Given the description of an element on the screen output the (x, y) to click on. 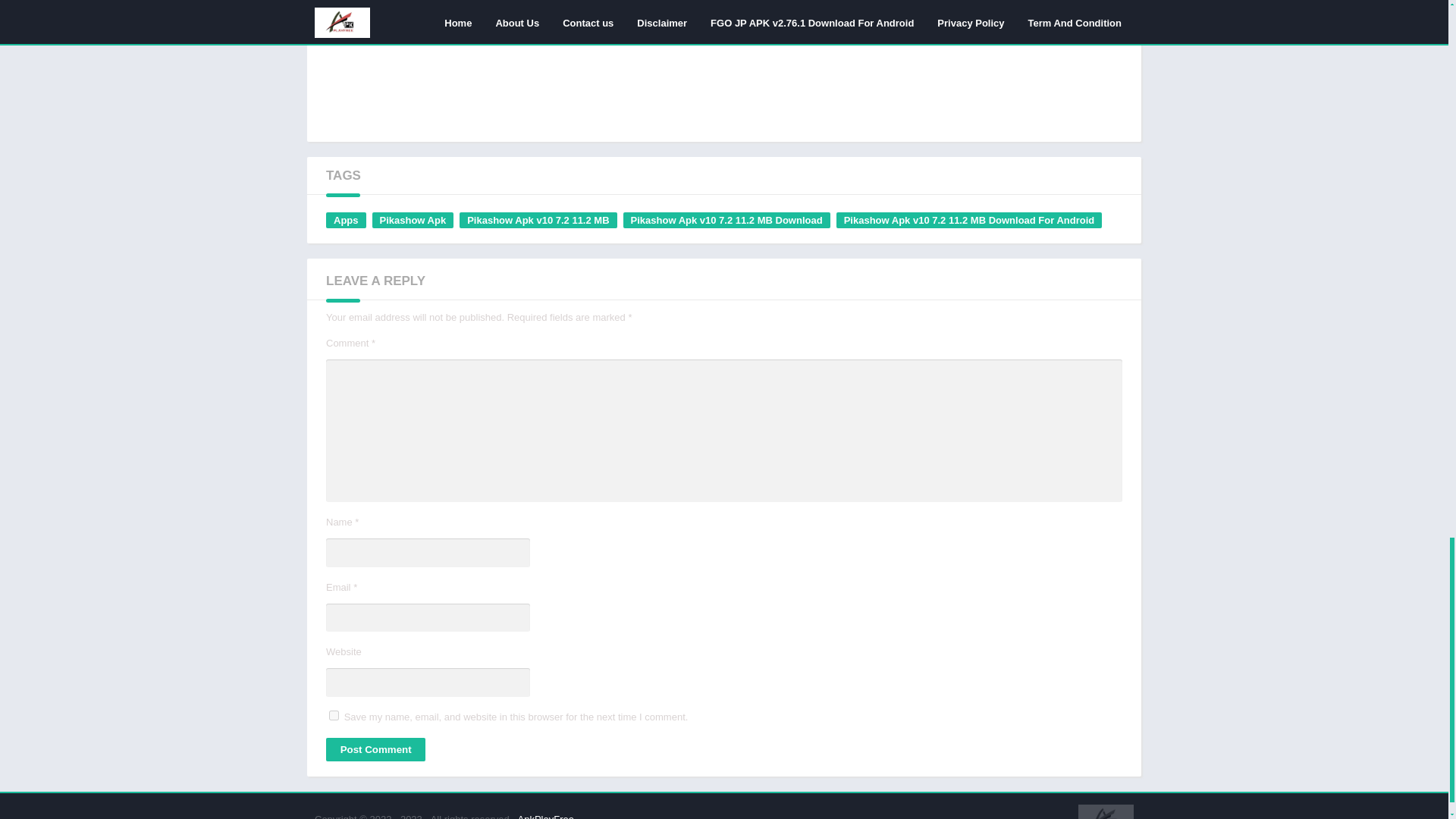
Apps (346, 220)
yes (334, 715)
Pikashow Apk v10 7.2 11.2 MB (537, 220)
Post Comment (375, 749)
Pikashow Apk v10 7.2 11.2 MB Download (726, 220)
Pikashow Apk (411, 220)
Pikashow Apk v10 7.2 11.2 MB Download For Android (968, 220)
